Given the description of an element on the screen output the (x, y) to click on. 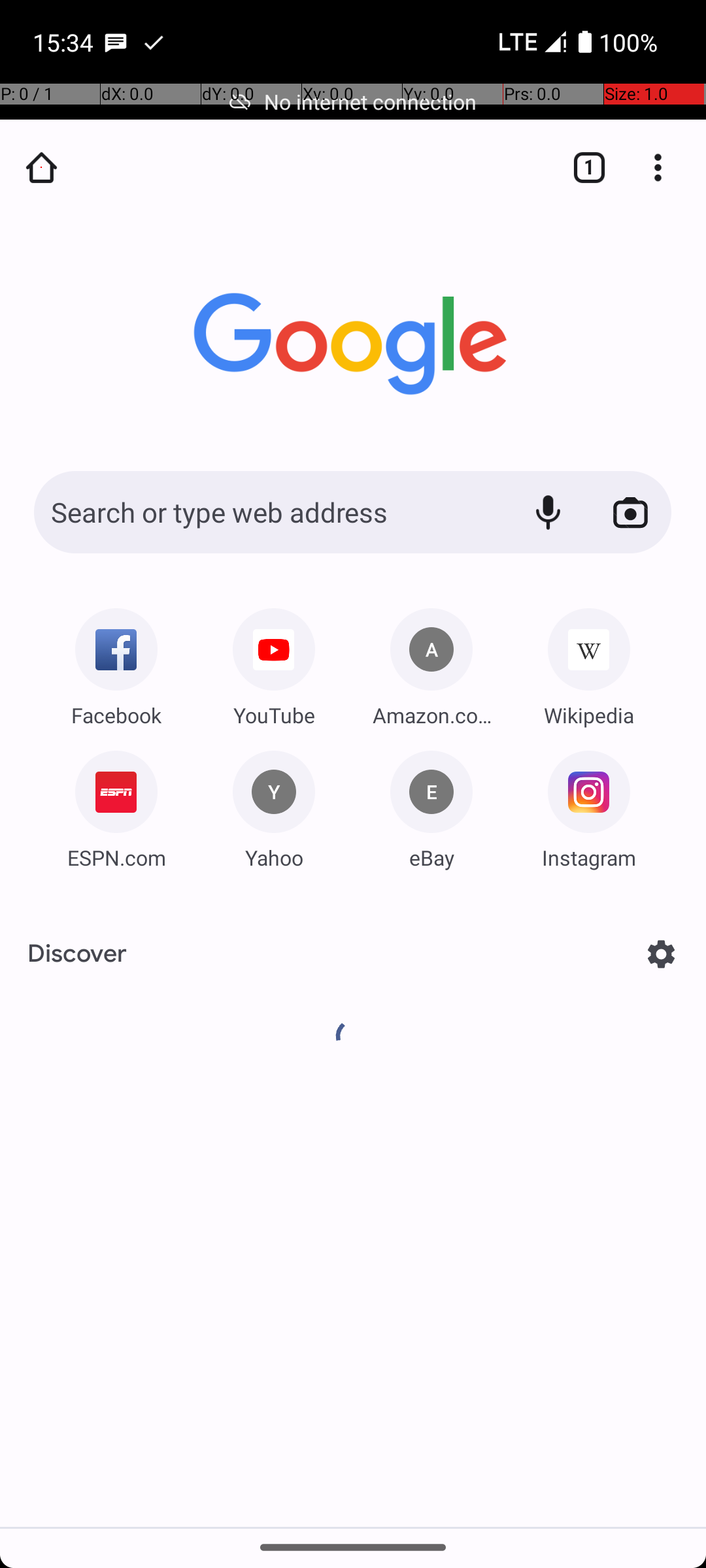
Search or type web address Element type: android.widget.EditText (267, 512)
Search with your camera using Google Lens Element type: android.widget.ImageView (629, 512)
Navigate: Facebook: m.facebook.com Element type: android.widget.FrameLayout (115, 662)
Navigate: YouTube: m.youtube.com Element type: android.widget.FrameLayout (273, 662)
Navigate: Amazon.com: www.amazon.com Element type: android.widget.FrameLayout (431, 662)
Navigate: Wikipedia: en.m.wikipedia.org Element type: android.widget.FrameLayout (588, 662)
Navigate: ESPN.com: www.espn.com Element type: android.widget.FrameLayout (115, 804)
Navigate: Yahoo: www.yahoo.com Element type: android.widget.FrameLayout (273, 804)
Navigate: eBay: m.ebay.com Element type: android.widget.FrameLayout (431, 804)
Navigate: Instagram: www.instagram.com Element type: android.widget.FrameLayout (588, 804)
Options for Discover Element type: android.widget.ImageButton (660, 953)
Amazon.com Element type: android.widget.TextView (430, 715)
ESPN.com Element type: android.widget.TextView (115, 857)
Yahoo Element type: android.widget.TextView (273, 857)
eBay Element type: android.widget.TextView (430, 857)
Instagram Element type: android.widget.TextView (588, 857)
SMS Messenger notification: Daniel Ali Element type: android.widget.ImageView (115, 41)
Contacts notification: Finished exporting contacts.vcf. Element type: android.widget.ImageView (153, 41)
